Given the description of an element on the screen output the (x, y) to click on. 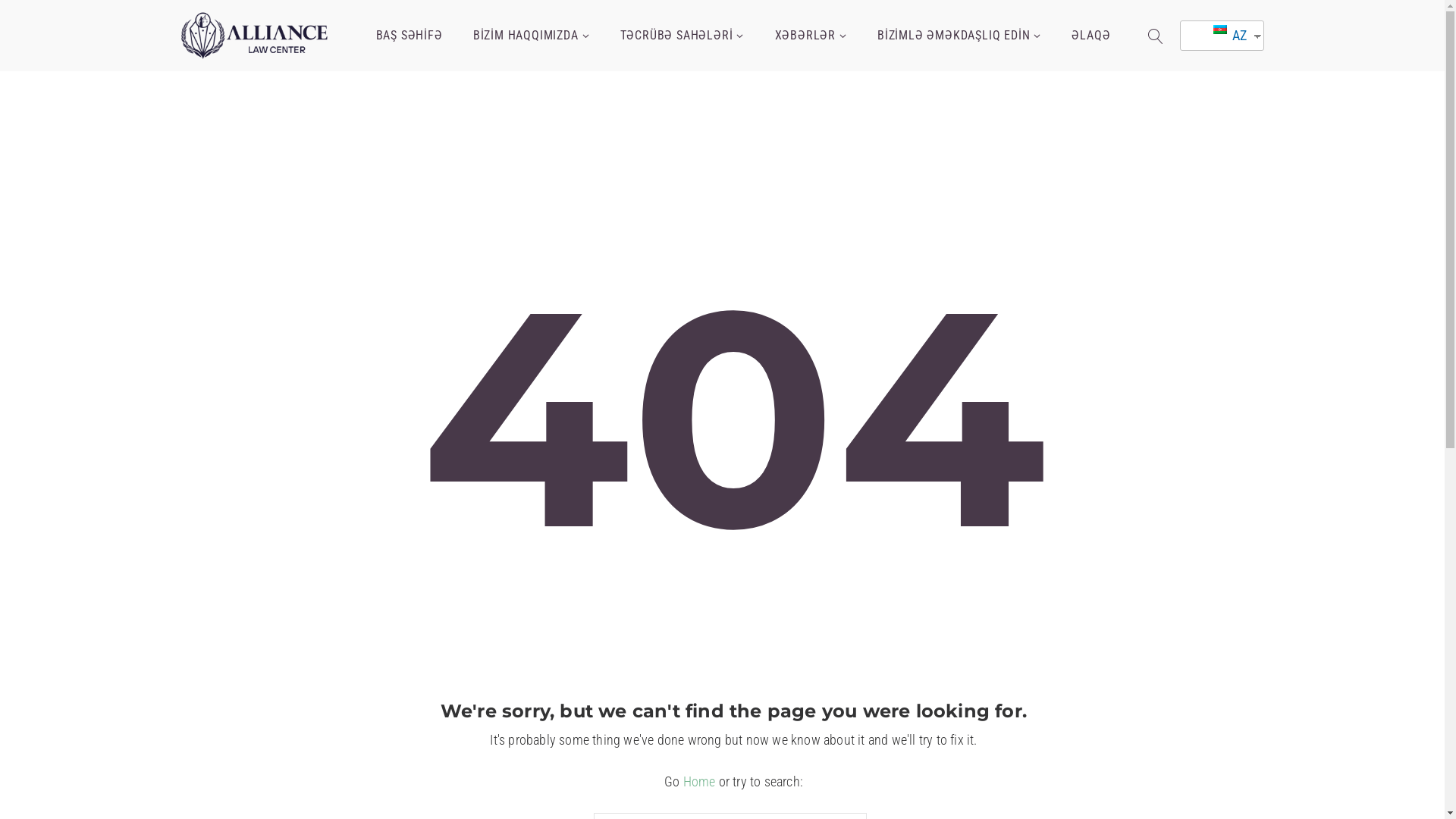
AZ Element type: text (1216, 35)
BIZIM HAQQIMIZDA Element type: text (531, 35)
Alliance Law Center -  Element type: hover (254, 35)
Home Element type: text (699, 781)
Azerbaijani Element type: hover (1219, 29)
